Given the description of an element on the screen output the (x, y) to click on. 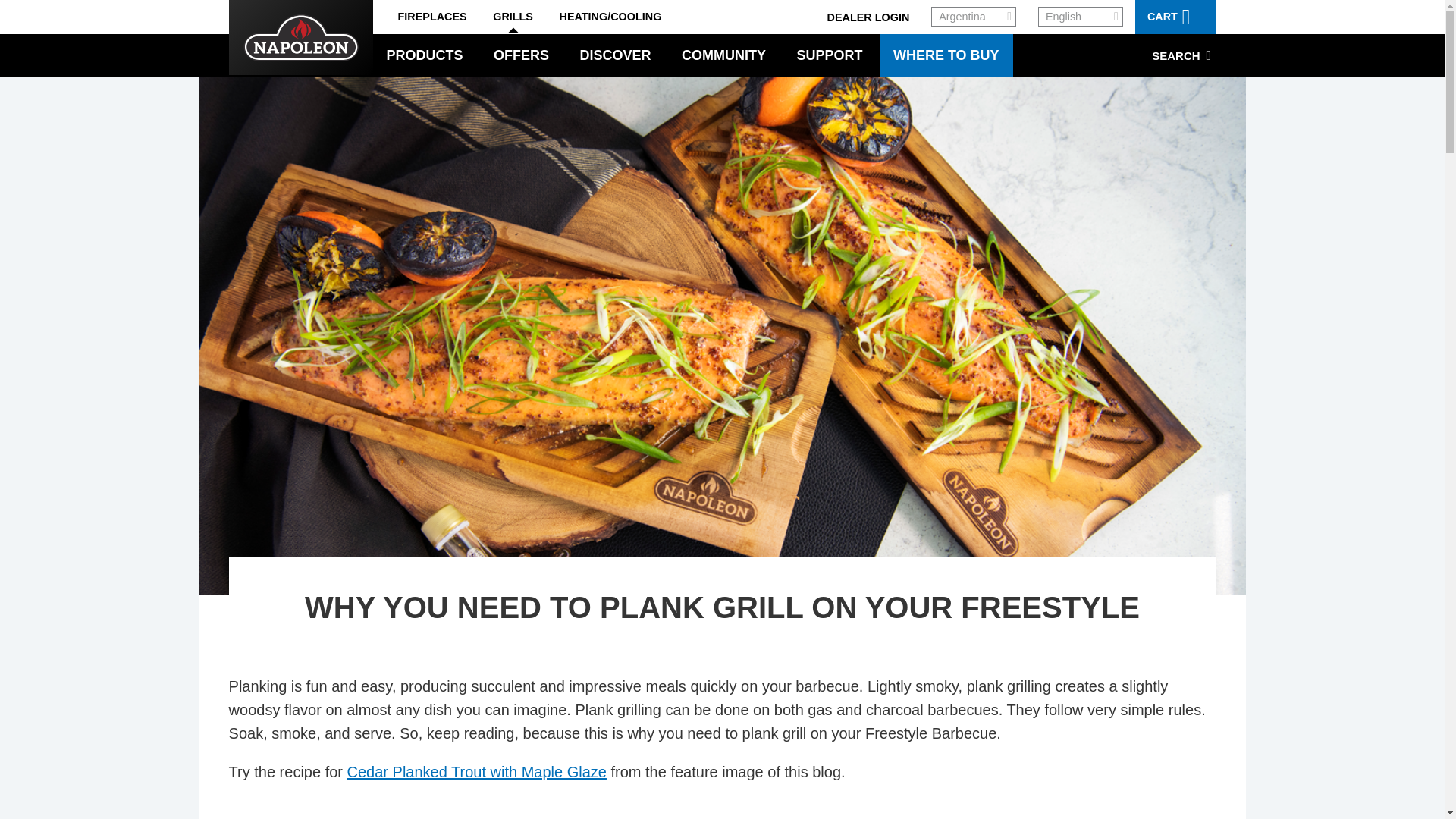
Recipe for Cedar Planked Trout With Maple Mustard Glaze (477, 771)
Home (300, 37)
Home (254, 42)
